Given the description of an element on the screen output the (x, y) to click on. 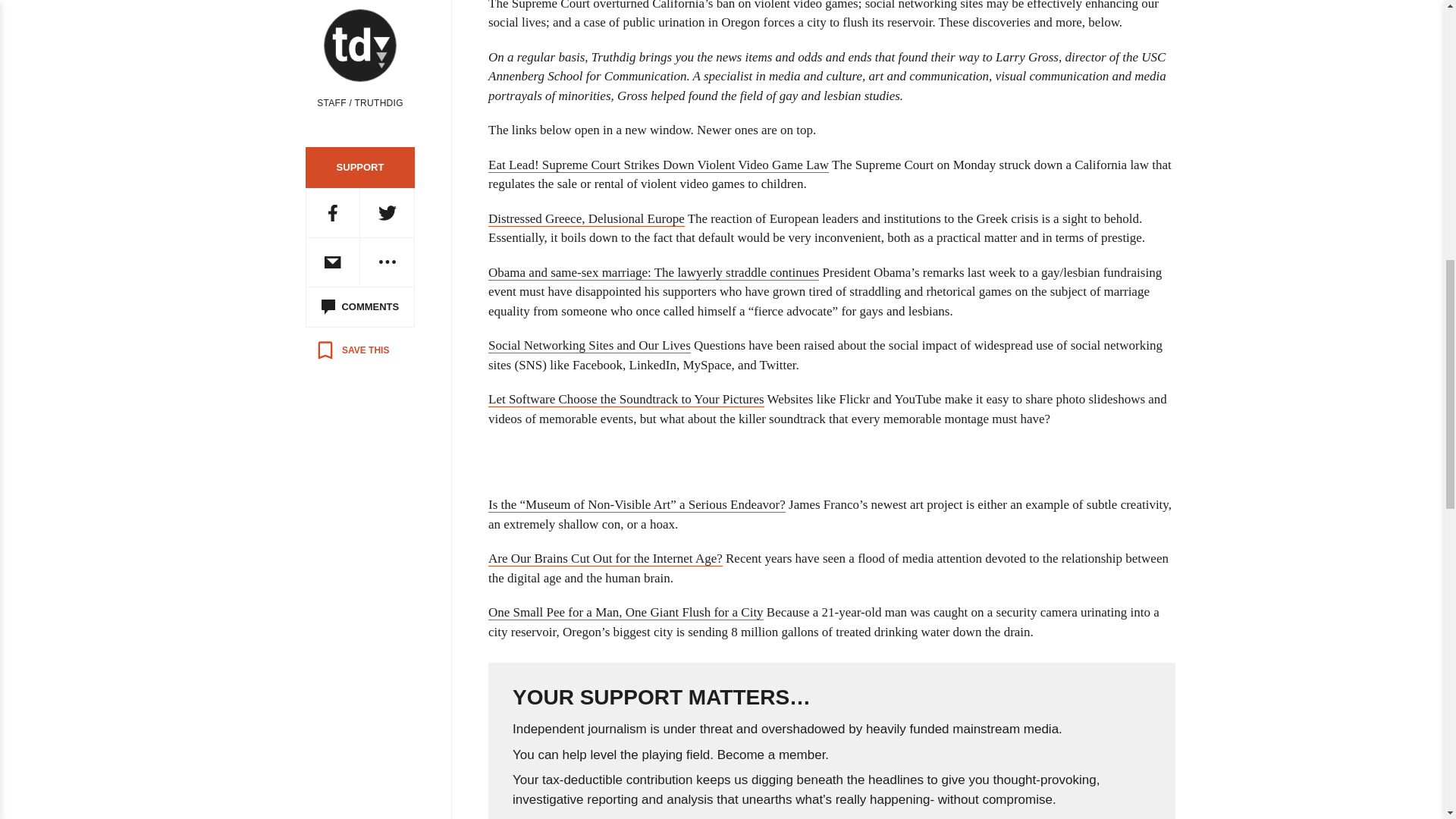
Eat Lead! Supreme Court Strikes Down Violent Video Game Law (657, 165)
Is the  (636, 504)
One Small Pee for a Man, One Giant Flush for a City (624, 612)
Are Our Brains Cut Out for the Internet Age? (604, 558)
Social Networking Sites and Our Lives (588, 345)
Distressed Greece, Delusional Europe (585, 218)
Save to read later (351, 350)
Obama and same-sex marriage: The lawyerly straddle continues (652, 272)
Let Software Choose the Soundtrack to Your Pictures (625, 399)
